Given the description of an element on the screen output the (x, y) to click on. 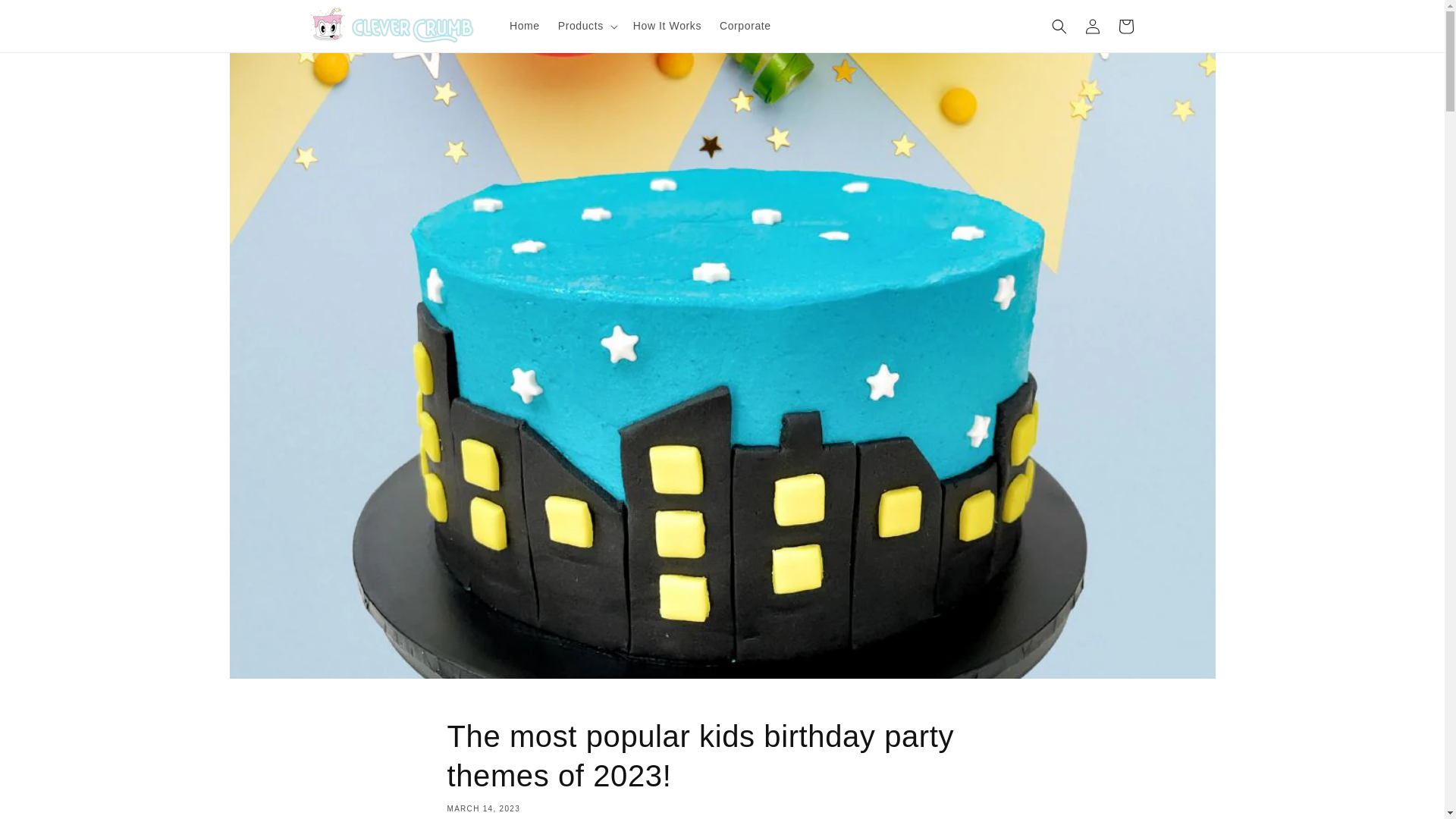
Home (524, 25)
Skip to content (45, 17)
Corporate (745, 25)
How It Works (667, 25)
Log in (1091, 25)
